Given the description of an element on the screen output the (x, y) to click on. 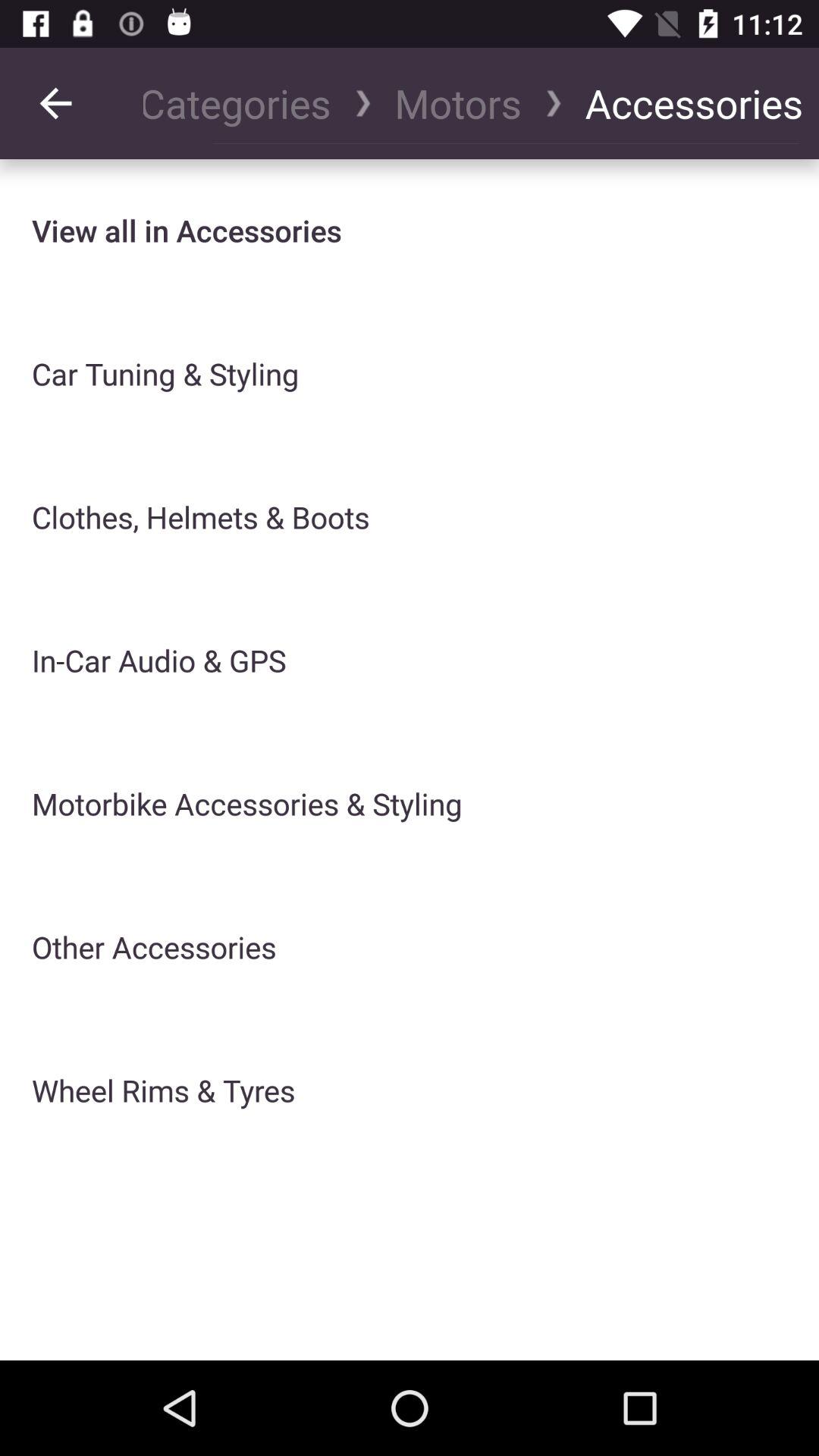
flip until the wheel rims & tyres item (163, 1090)
